Given the description of an element on the screen output the (x, y) to click on. 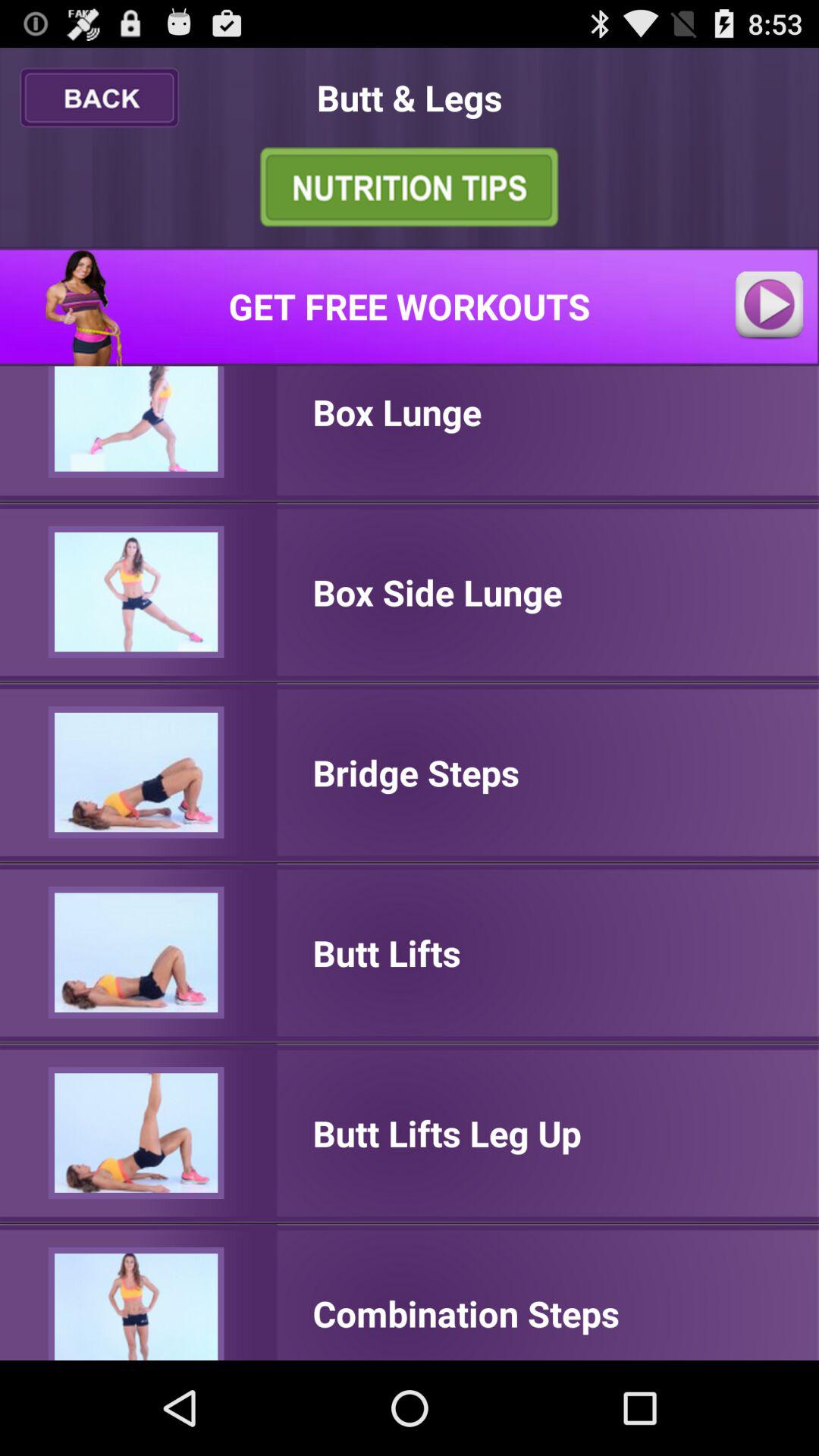
tap item below butt lifts leg item (465, 1313)
